Given the description of an element on the screen output the (x, y) to click on. 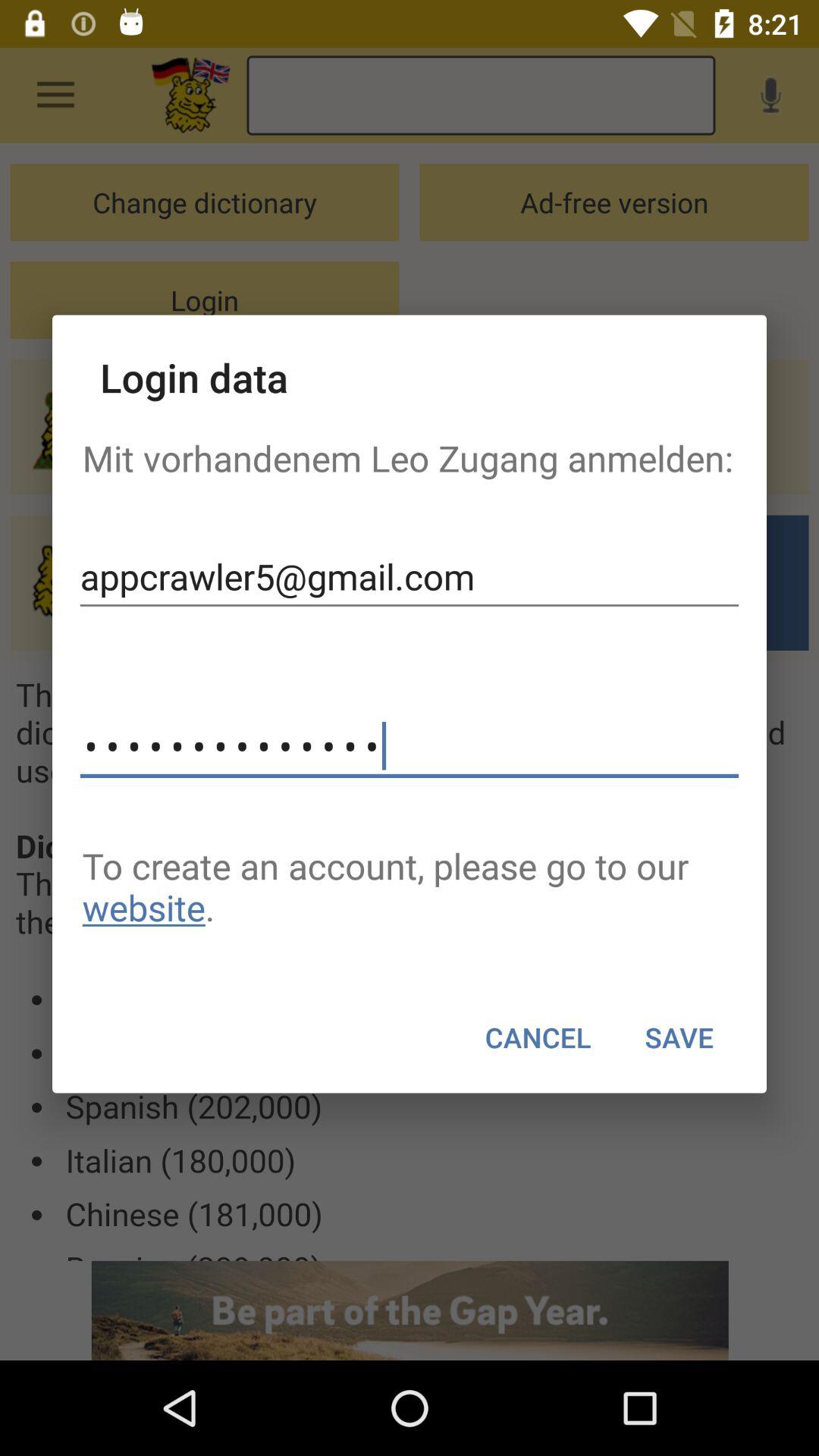
swipe to cancel icon (538, 1037)
